Given the description of an element on the screen output the (x, y) to click on. 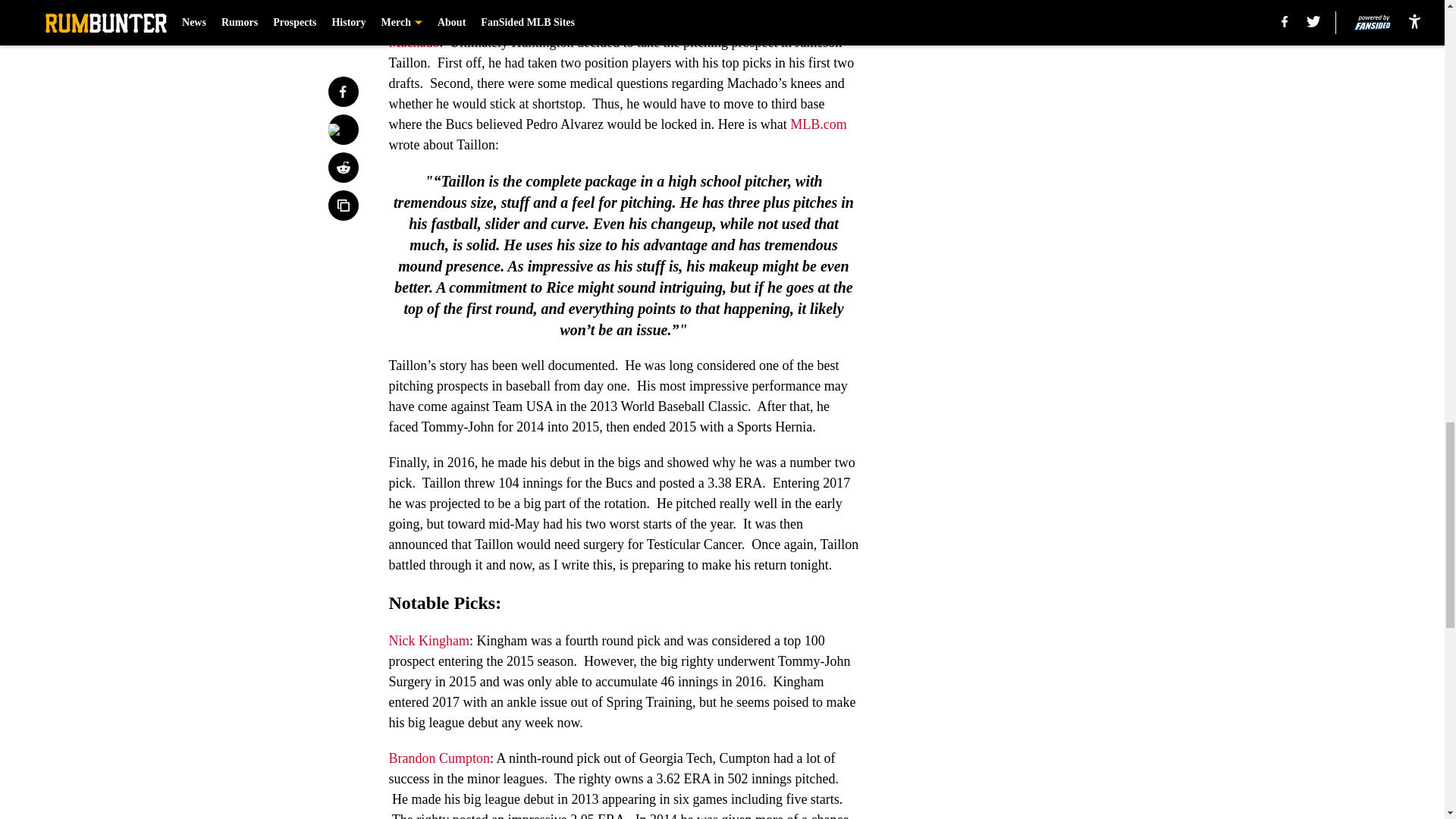
Nick Kingham (428, 640)
Jameson Taillon (610, 21)
Brandon Cumpton (438, 758)
Manny Machado (622, 31)
MLB.com (818, 124)
